Given the description of an element on the screen output the (x, y) to click on. 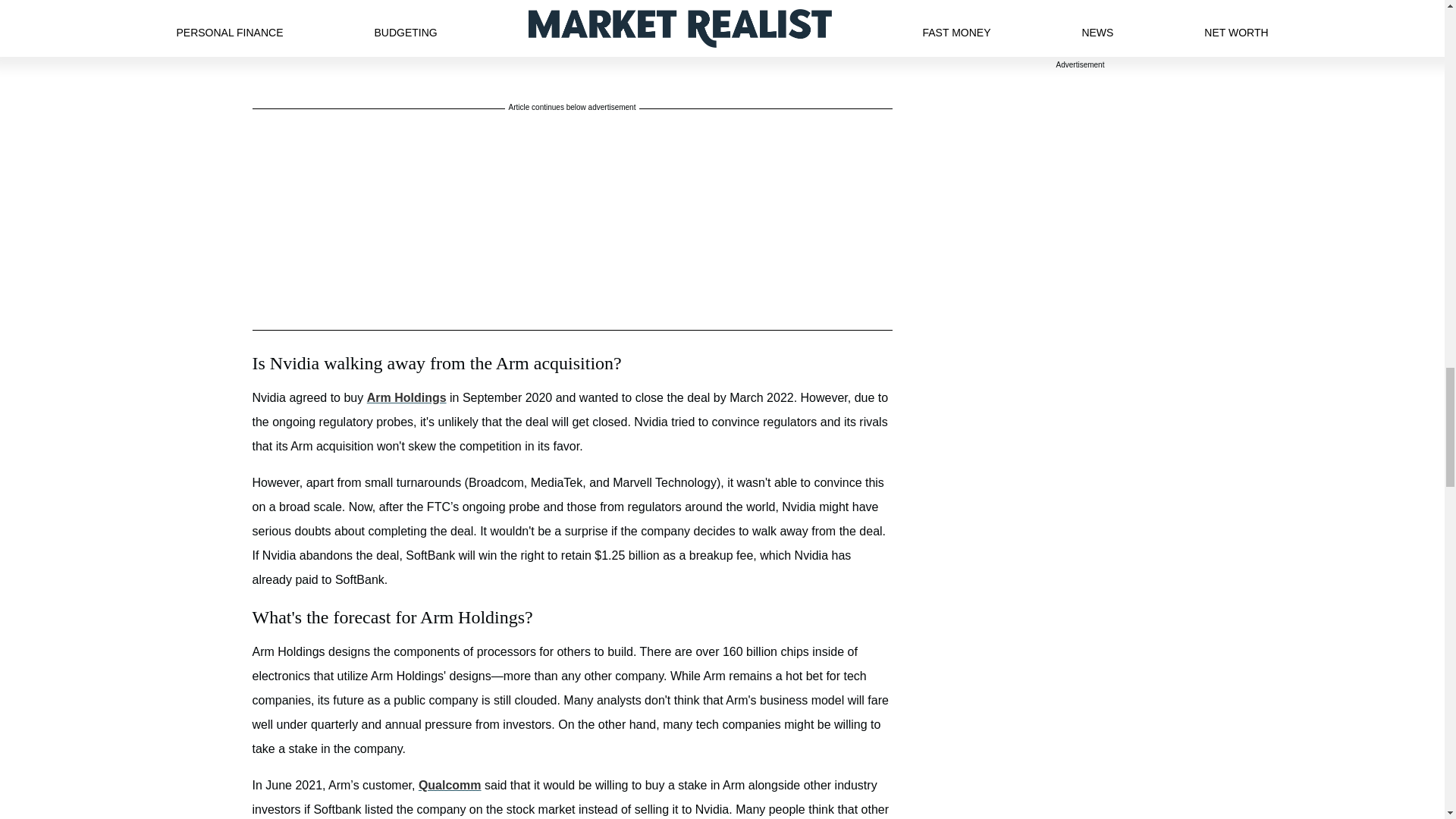
Arm Holdings (406, 397)
Qualcomm (450, 784)
